Given the description of an element on the screen output the (x, y) to click on. 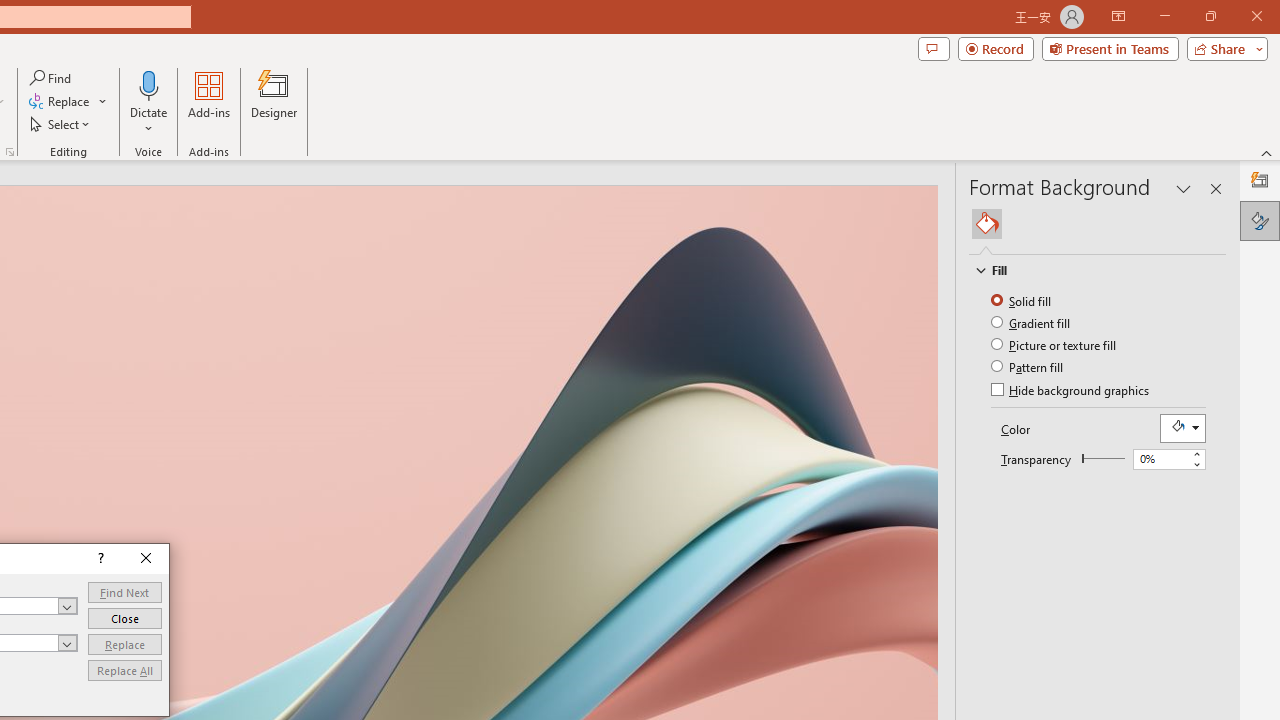
Fill Color RGB(255, 255, 255) (1182, 427)
Solid fill (1022, 300)
Replace All (124, 669)
Transparency (1103, 458)
Hide background graphics (1071, 391)
